Given the description of an element on the screen output the (x, y) to click on. 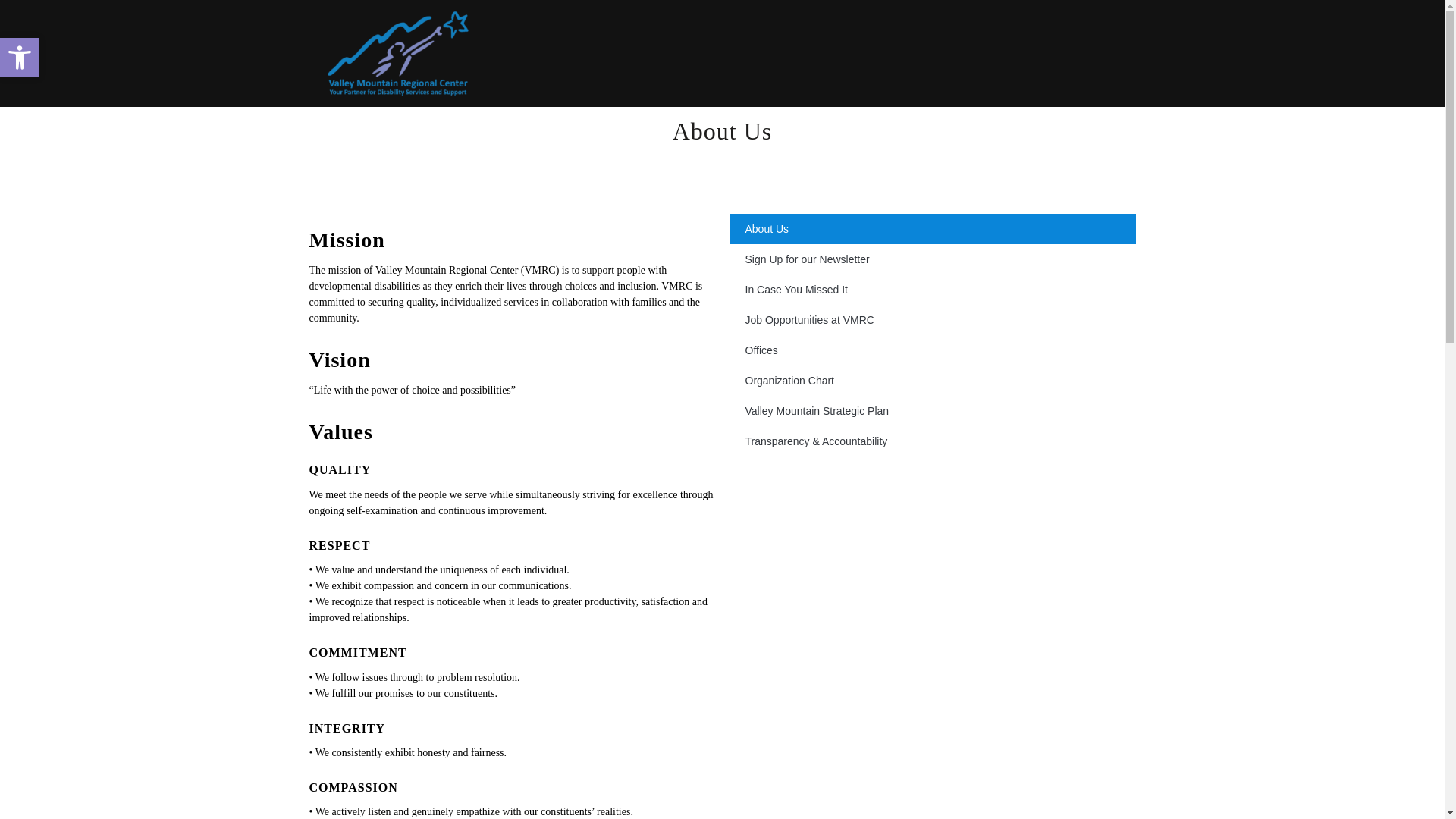
Accessibility Tools (19, 57)
Offices (932, 349)
Valley Mountain Strategic Plan (932, 410)
Sign Up for our Newsletter (19, 56)
Accessibility Tools (932, 259)
In Case You Missed It (19, 56)
Organization Chart (932, 289)
About Us (932, 380)
Job Opportunities at VMRC (932, 228)
